Given the description of an element on the screen output the (x, y) to click on. 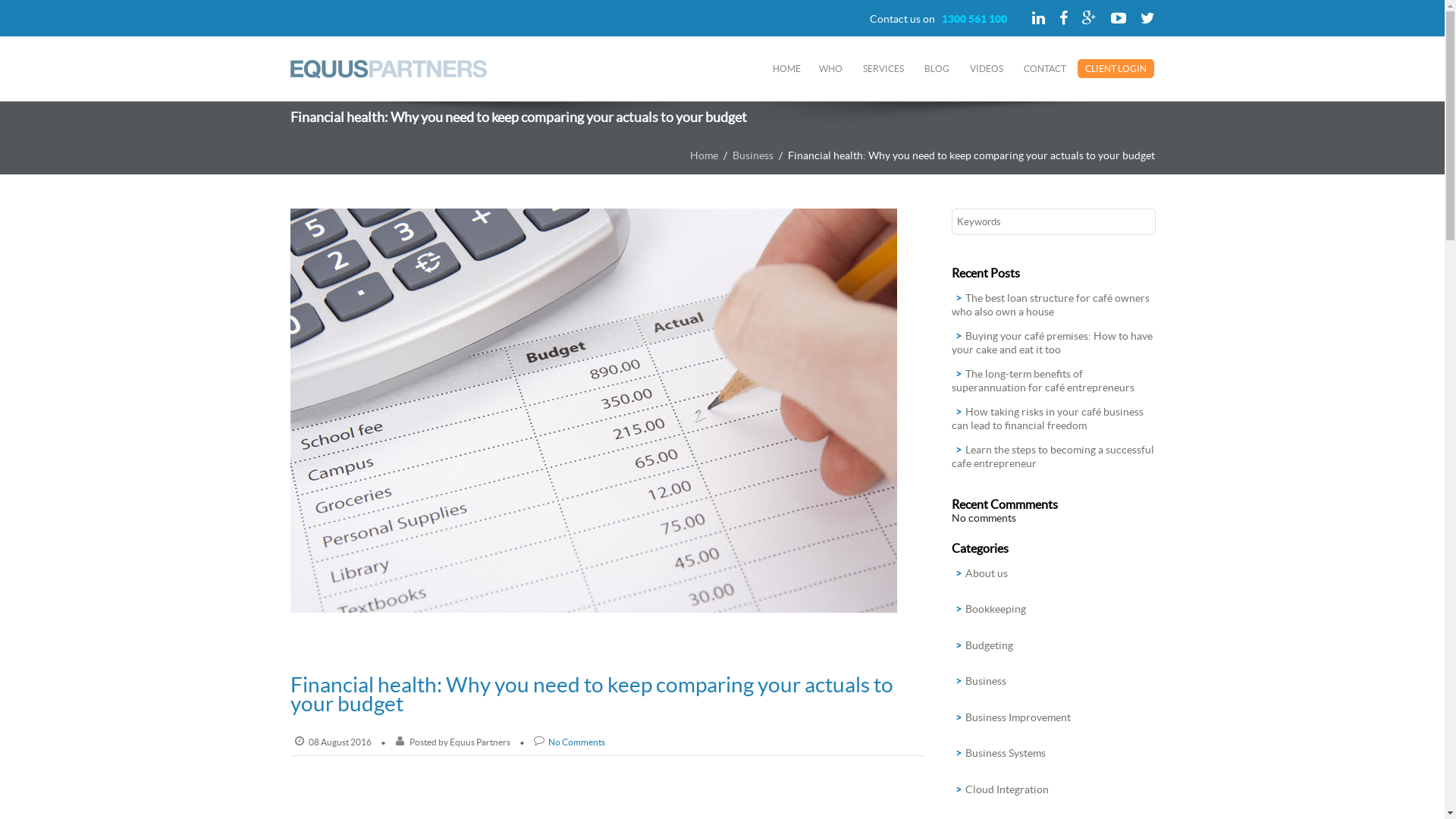
CLIENT LOGIN Element type: text (1115, 68)
HOME Element type: text (786, 68)
Business Element type: text (752, 155)
Home Element type: text (704, 155)
BLOG Element type: text (936, 68)
Learn the steps to becoming a successful cafe entrepreneur Element type: text (1052, 456)
Business Element type: text (985, 680)
Bookkeeping Element type: text (995, 608)
Cloud Integration Element type: text (1006, 788)
1300 561 100 Element type: text (974, 18)
Budgeting Element type: text (989, 644)
VIDEOS Element type: text (986, 68)
WHO Element type: text (830, 68)
No Comments Element type: text (575, 741)
CONTACT Element type: text (1044, 68)
Business Systems Element type: text (1005, 752)
SERVICES Element type: text (883, 68)
Business Improvement Element type: text (1017, 717)
About us Element type: text (986, 573)
